Given the description of an element on the screen output the (x, y) to click on. 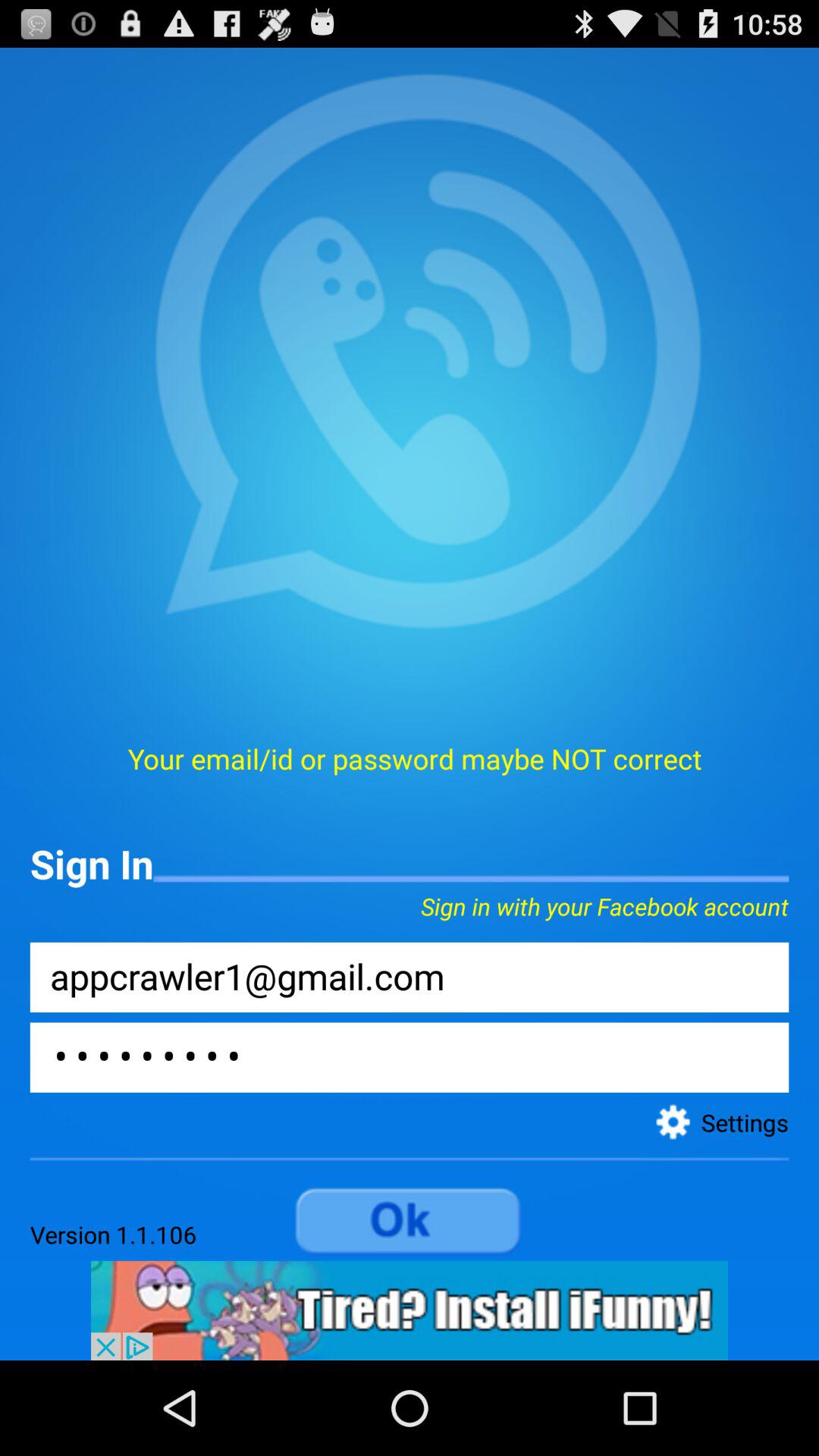
ok (409, 1221)
